Given the description of an element on the screen output the (x, y) to click on. 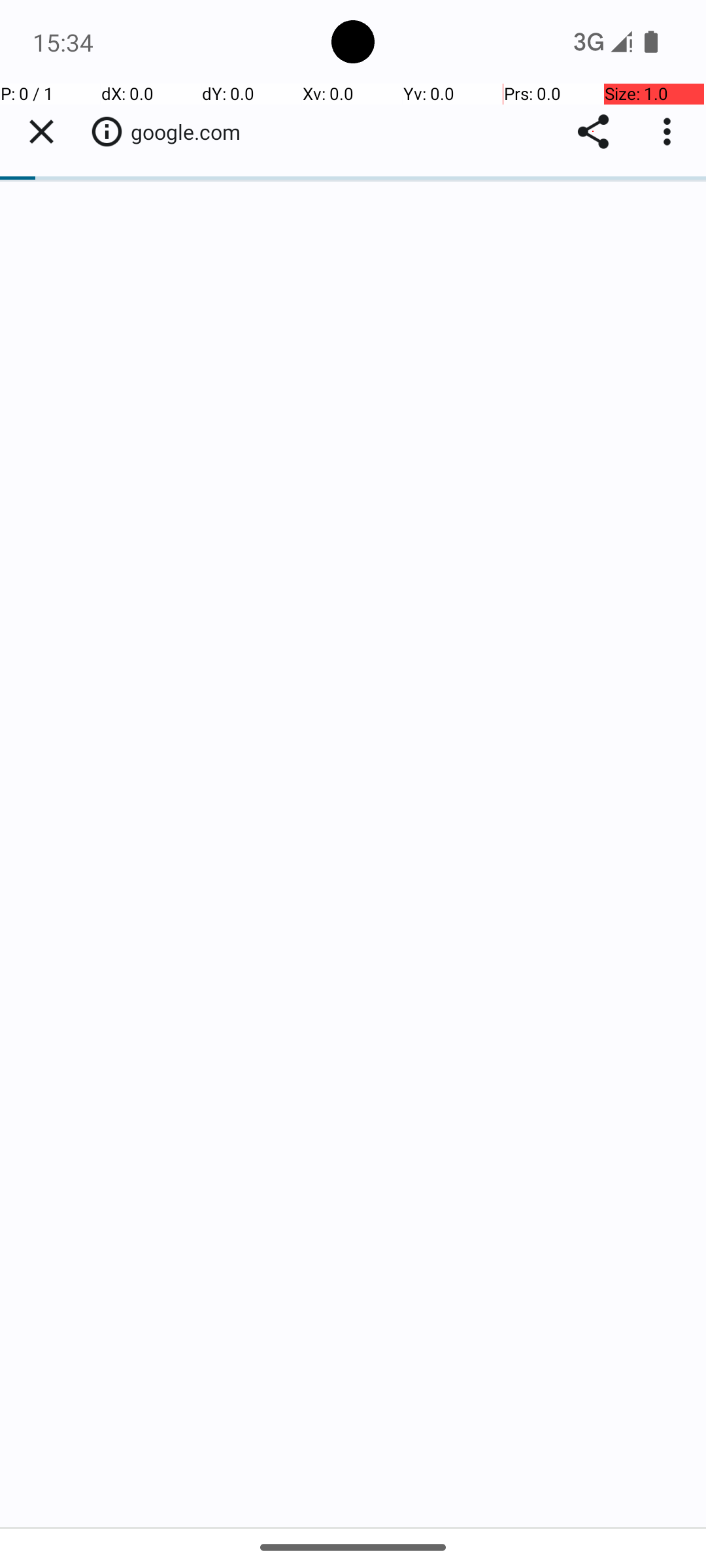
Web View Element type: android.widget.FrameLayout (353, 804)
Close tab Element type: android.widget.ImageButton (41, 131)
Your connection to this site is not secure Element type: android.widget.ImageButton (106, 131)
Share Element type: android.widget.ImageButton (593, 131)
google.com Element type: android.widget.TextView (192, 131)
